Given the description of an element on the screen output the (x, y) to click on. 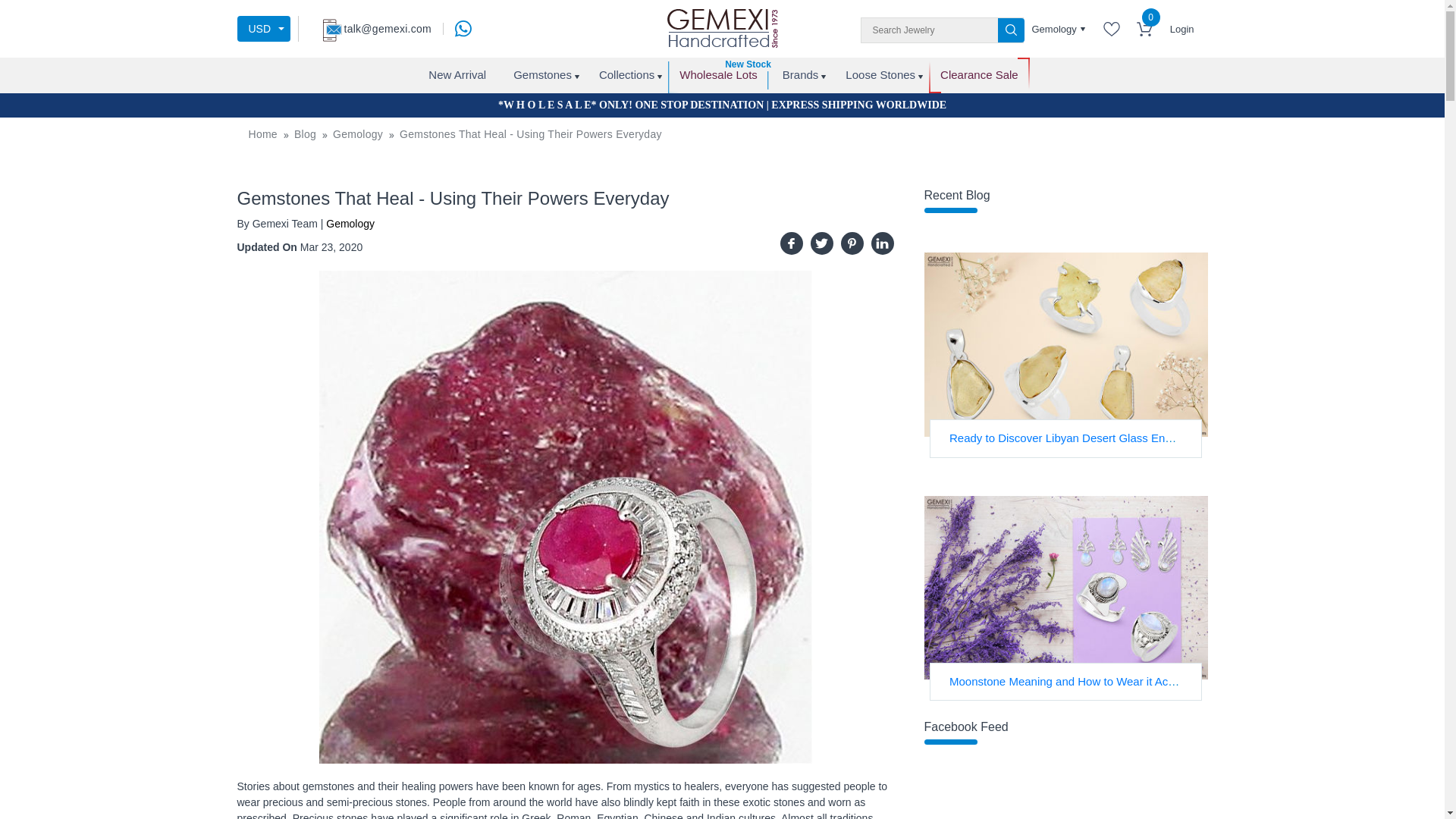
Home (263, 133)
Gemology (357, 133)
Moonstone Meaning and How to Wear it According to Your Mood (1065, 587)
Gemstones (542, 75)
Blog (304, 133)
wishlist (1111, 29)
Ready to Discover Libyan Desert Glass Energy (1065, 343)
Gemstones That Heal - Using Their Powers Everyday (530, 133)
cart (1145, 29)
WhatsApp (462, 28)
Gemology (1058, 33)
USD (262, 28)
New Arrival (456, 75)
Login (1181, 28)
